Given the description of an element on the screen output the (x, y) to click on. 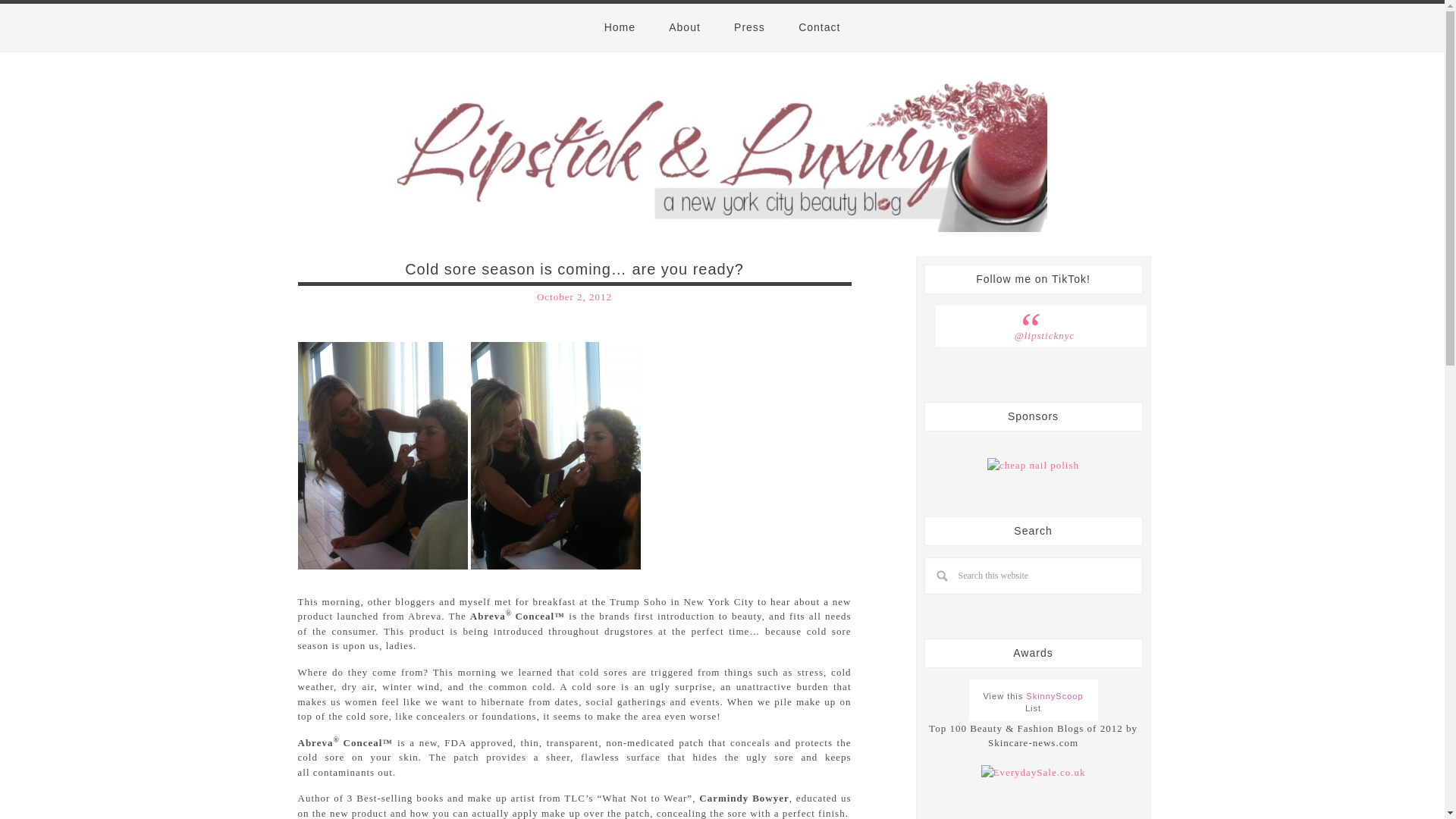
Contact (819, 27)
View this SkinnyScoop List (1032, 702)
Home (619, 27)
About (684, 27)
Press (749, 27)
DHgate has nail art supplies for sale (1032, 465)
